Given the description of an element on the screen output the (x, y) to click on. 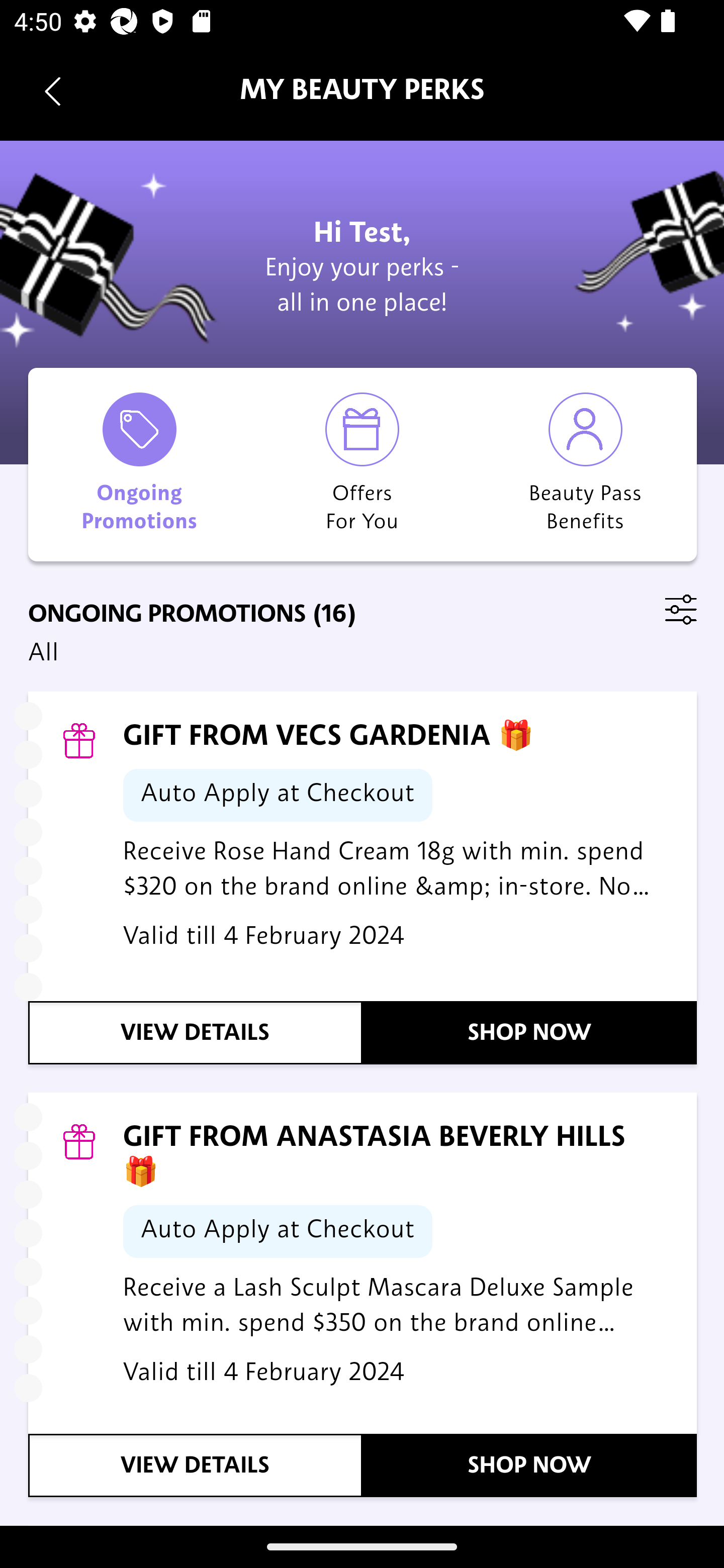
Ongoing Promotions (139, 463)
Offers
For You (362, 463)
Beauty Pass Benefits (584, 463)
VIEW DETAILS (196, 1032)
SHOP NOW (530, 1032)
VIEW DETAILS (196, 1465)
SHOP NOW (530, 1465)
